Given the description of an element on the screen output the (x, y) to click on. 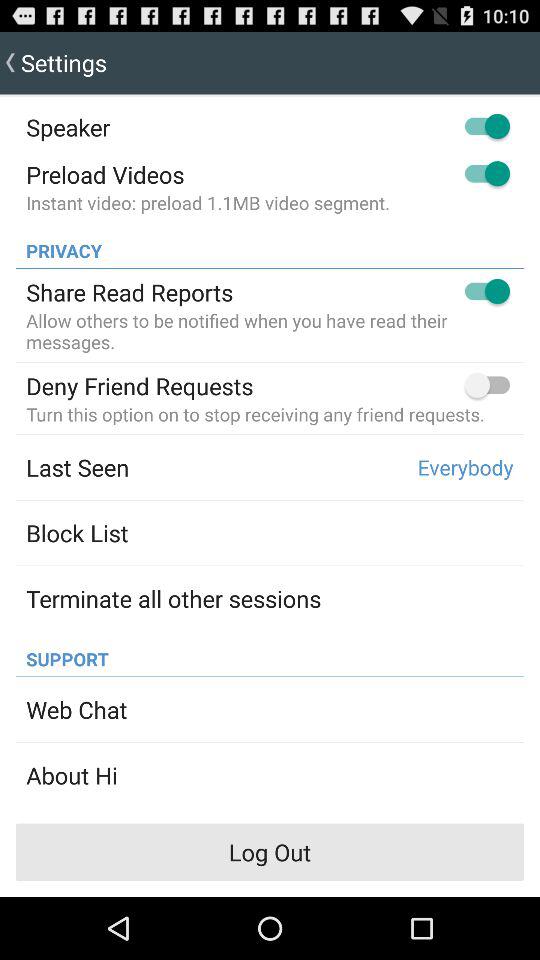
turn off the allow others to item (269, 331)
